Given the description of an element on the screen output the (x, y) to click on. 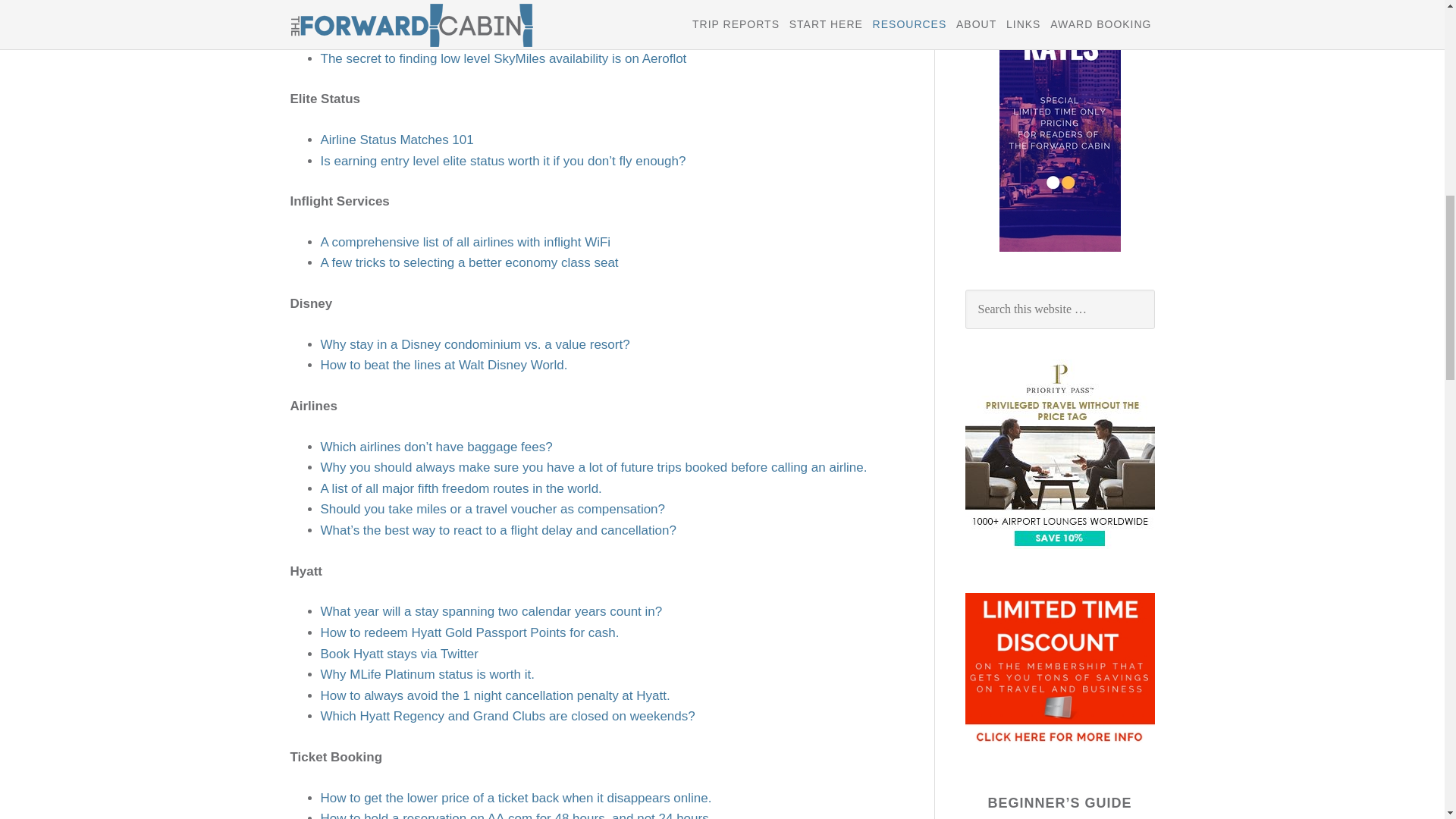
Fifth Freedom Routes (460, 488)
Airlines With Inflight WiFi (465, 242)
